Given the description of an element on the screen output the (x, y) to click on. 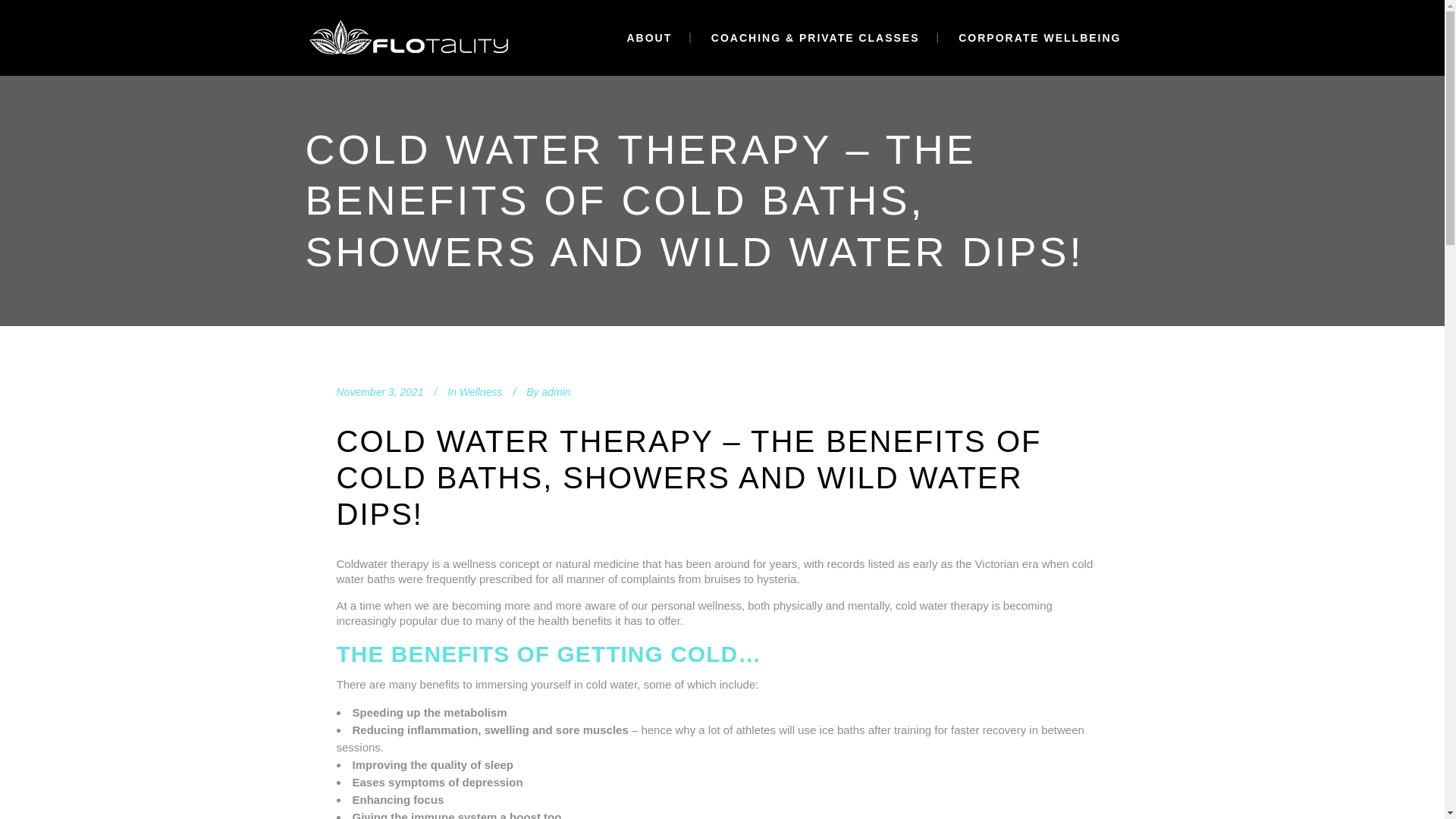
ABOUT (649, 38)
admin (555, 391)
Wellness (481, 391)
CORPORATE WELLBEING (1039, 38)
